Given the description of an element on the screen output the (x, y) to click on. 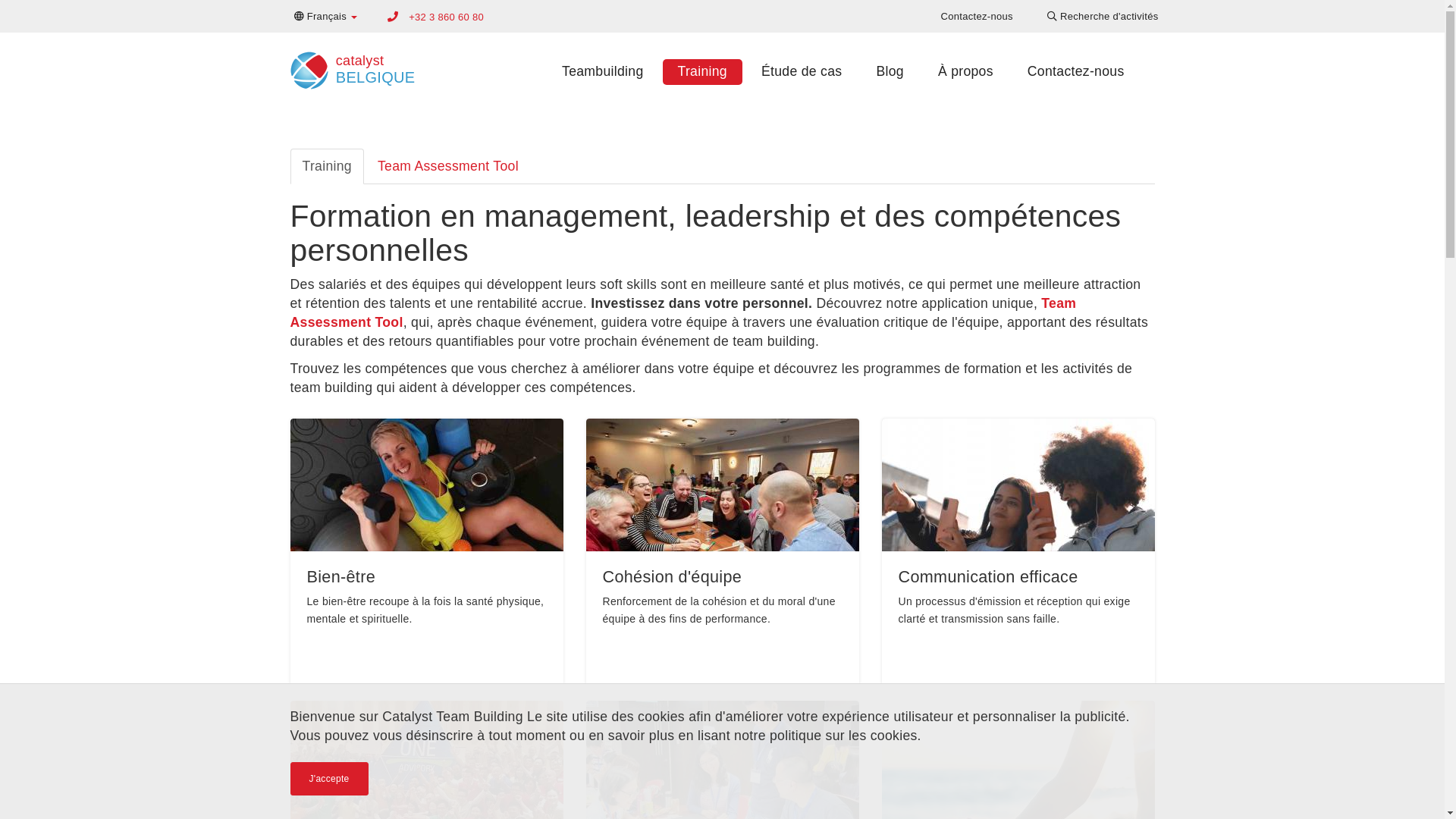
Training Element type: text (326, 166)
Contactez-nous Element type: text (1075, 71)
catalyst
BELGIQUE Element type: text (349, 65)
J'accepte Element type: text (328, 778)
Teambuilding Element type: text (602, 71)
+32 3 860 60 80 Element type: text (445, 16)
Team Assessment Tool Element type: text (447, 166)
Team Assessment Tool Element type: text (682, 312)
Contactez-nous Element type: text (976, 16)
Blog Element type: text (889, 71)
Training Element type: text (702, 71)
